Given the description of an element on the screen output the (x, y) to click on. 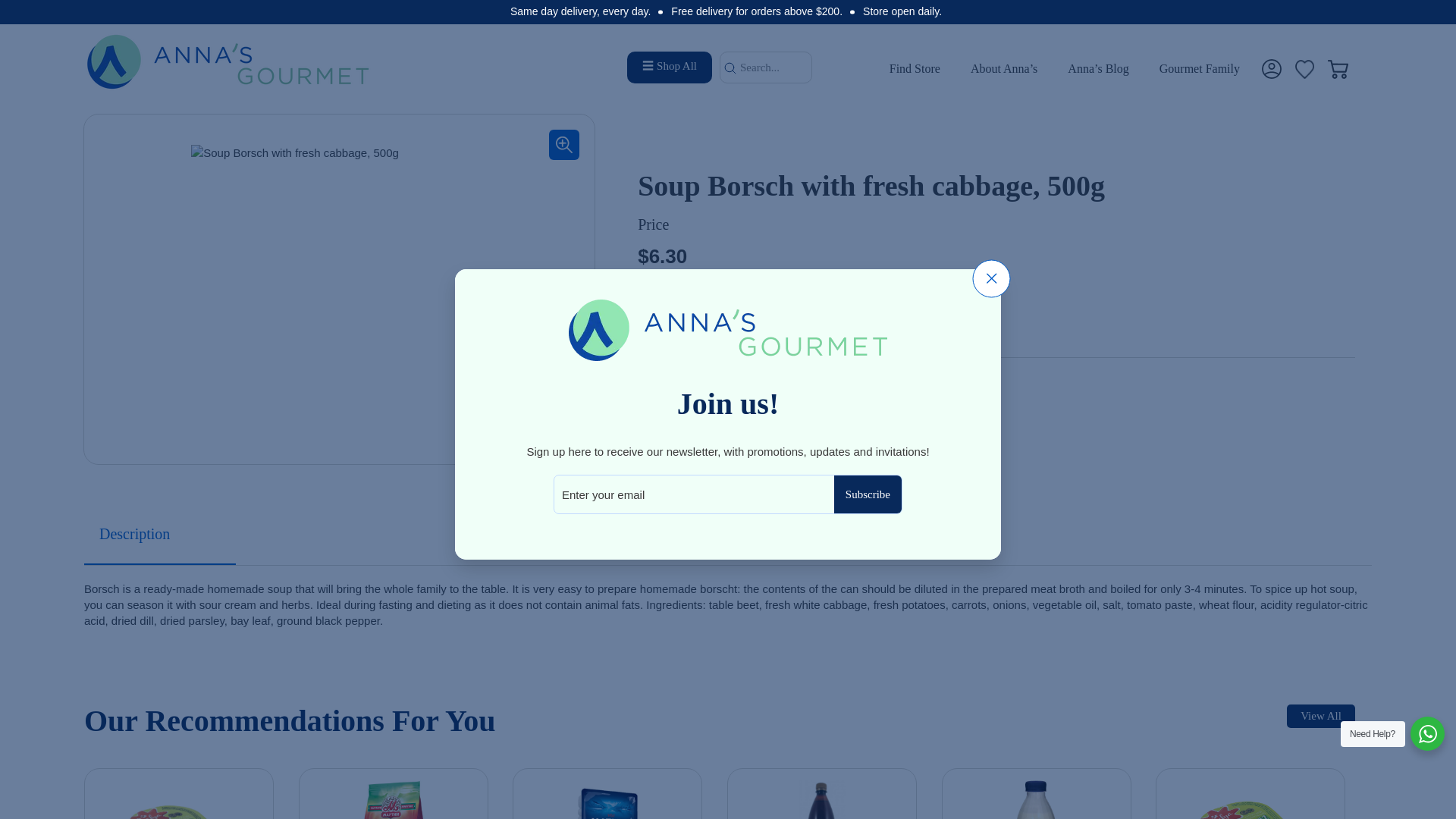
1 (702, 324)
